Given the description of an element on the screen output the (x, y) to click on. 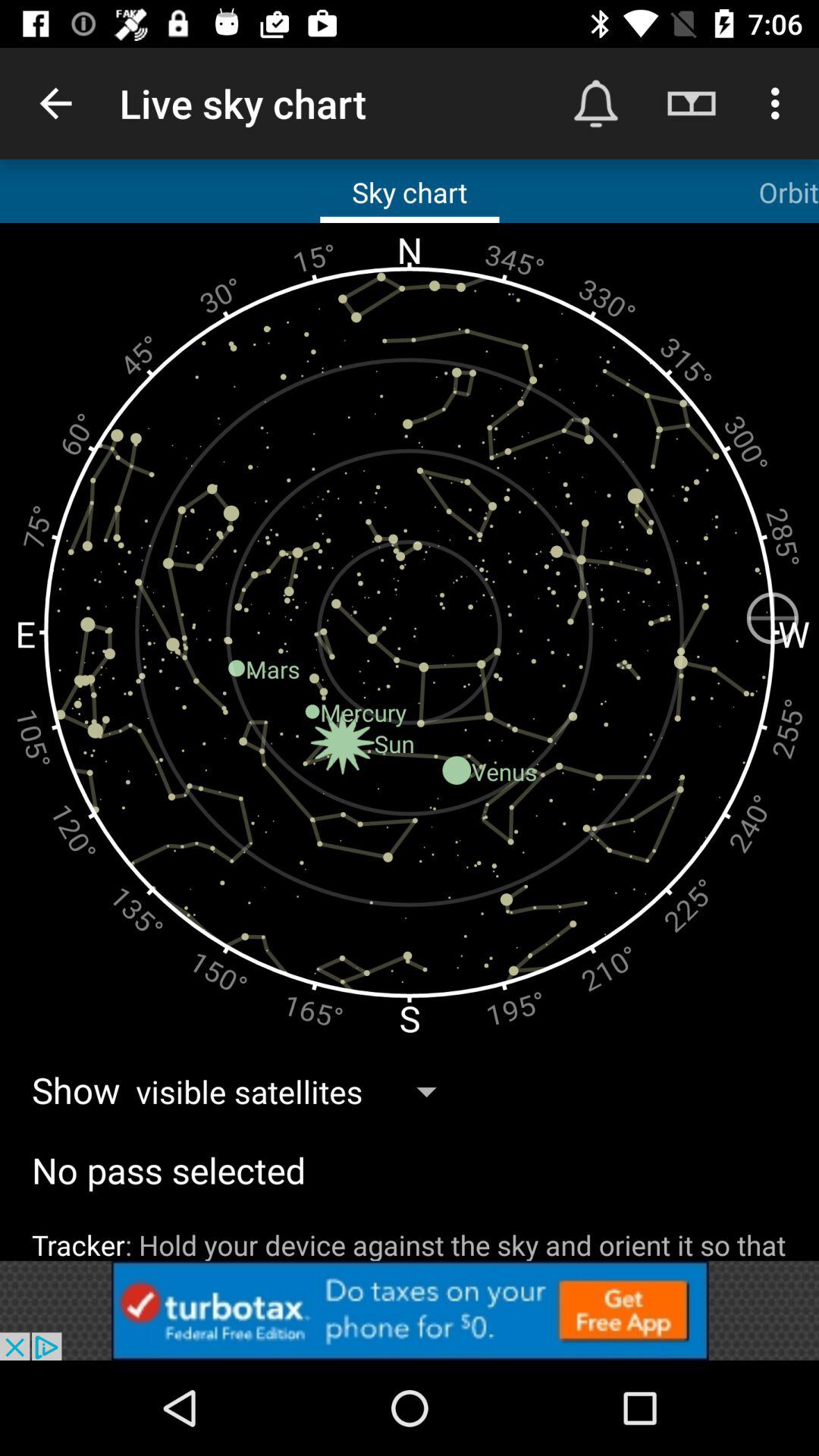
toggle advertisement (409, 1310)
